Given the description of an element on the screen output the (x, y) to click on. 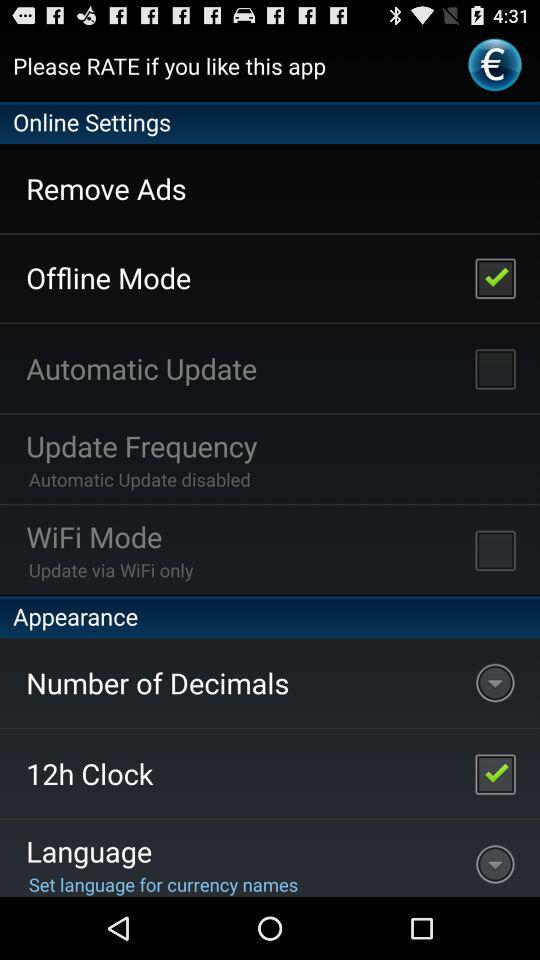
select auto updates (495, 367)
